Given the description of an element on the screen output the (x, y) to click on. 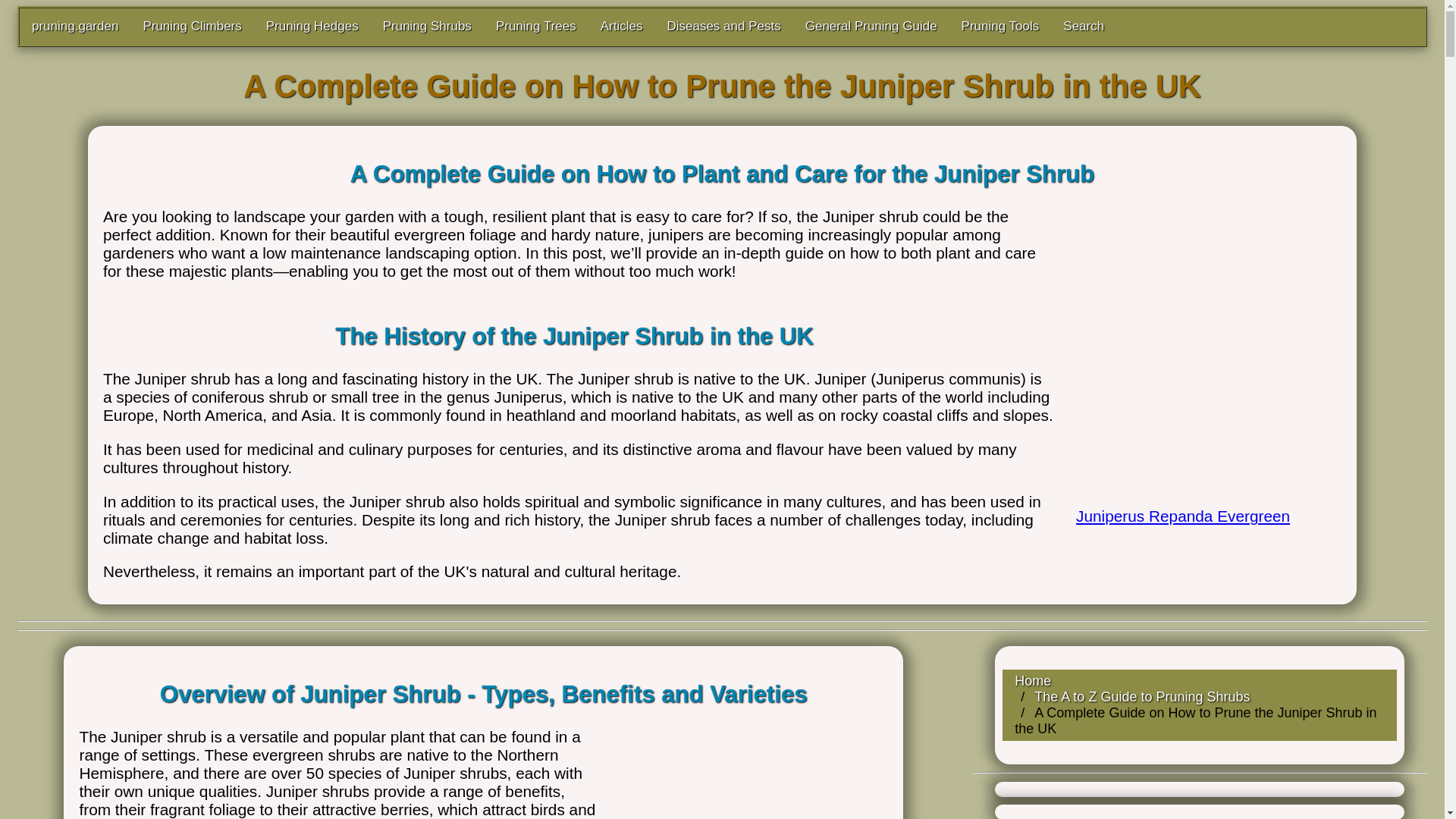
Articles (621, 26)
Pruning Tools (1000, 26)
Search (1083, 26)
Pruning Trees (535, 26)
pruning.garden (75, 26)
Diseases and Pests (722, 26)
General Pruning Guide (871, 26)
Juniperus Repanda Evergreen (1200, 499)
Pruning Shrubs (427, 26)
Pruning Climbers (192, 26)
Pruning Hedges (312, 26)
